Given the description of an element on the screen output the (x, y) to click on. 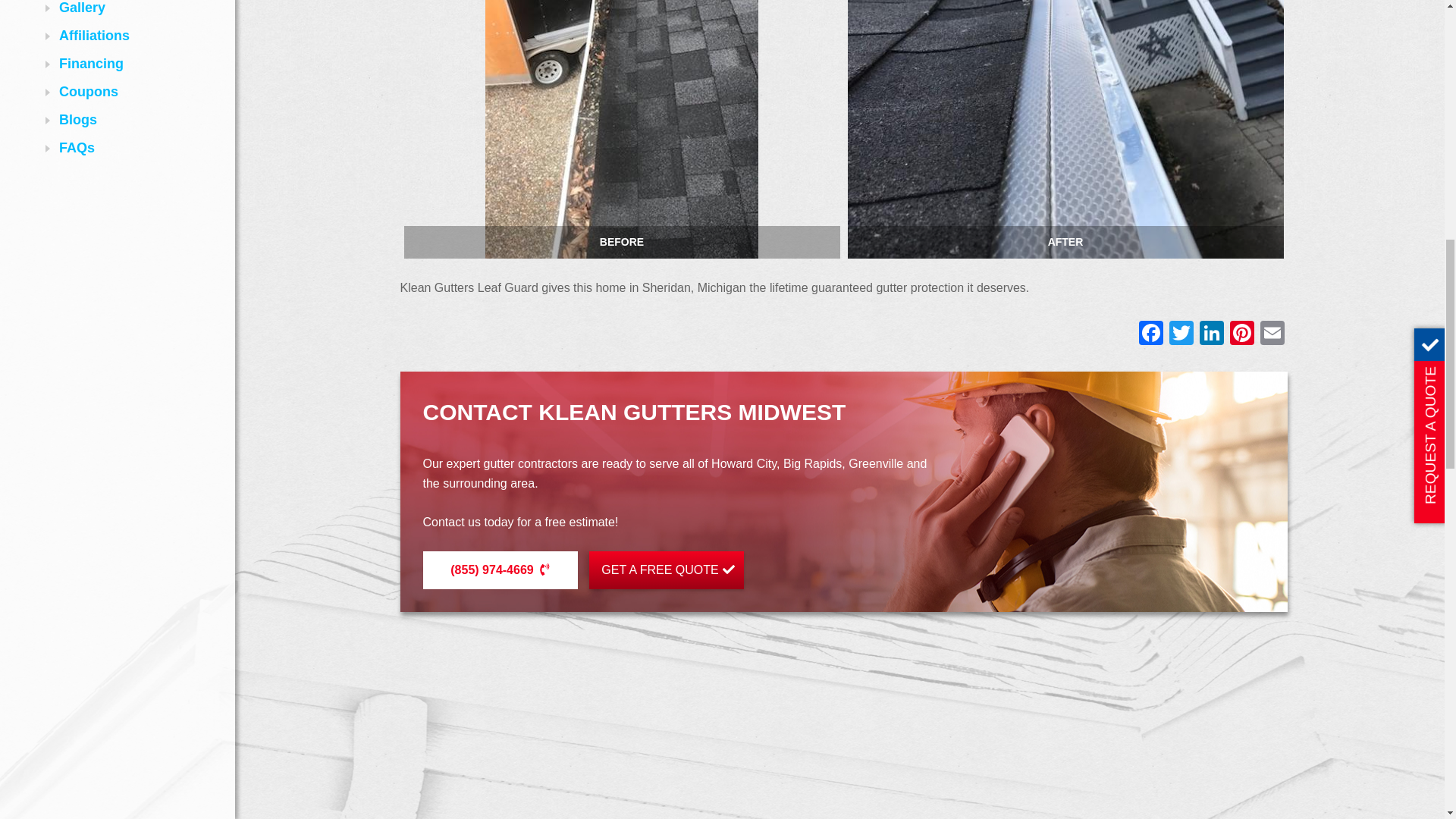
LinkedIn (1211, 334)
Twitter (1181, 334)
Email (1272, 334)
Pinterest (1242, 334)
Facebook (1150, 334)
LinkedIn (1211, 334)
Facebook (1150, 334)
Twitter (1181, 334)
